Given the description of an element on the screen output the (x, y) to click on. 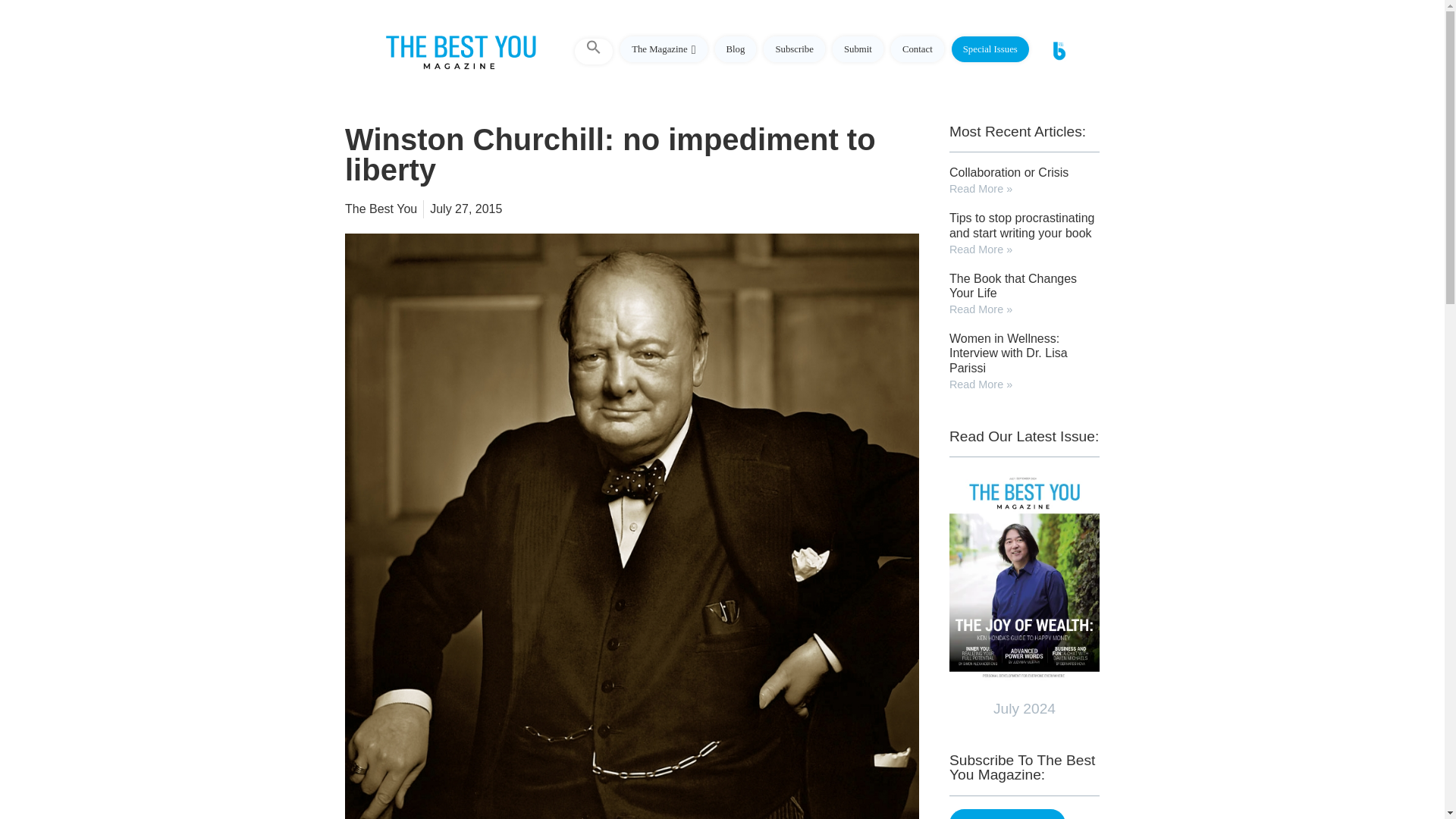
Blog (735, 49)
July 27, 2015 (465, 208)
Subscribe (793, 49)
Collaboration or Crisis (1008, 172)
The Magazine (663, 49)
Submit (857, 49)
Special Issues (990, 49)
Women in Wellness: Interview with Dr. Lisa Parissi (1008, 352)
The Best You (380, 208)
The Book that Changes Your Life (1013, 285)
Tips to stop procrastinating and start writing your book (1021, 225)
Contact (917, 49)
